Given the description of an element on the screen output the (x, y) to click on. 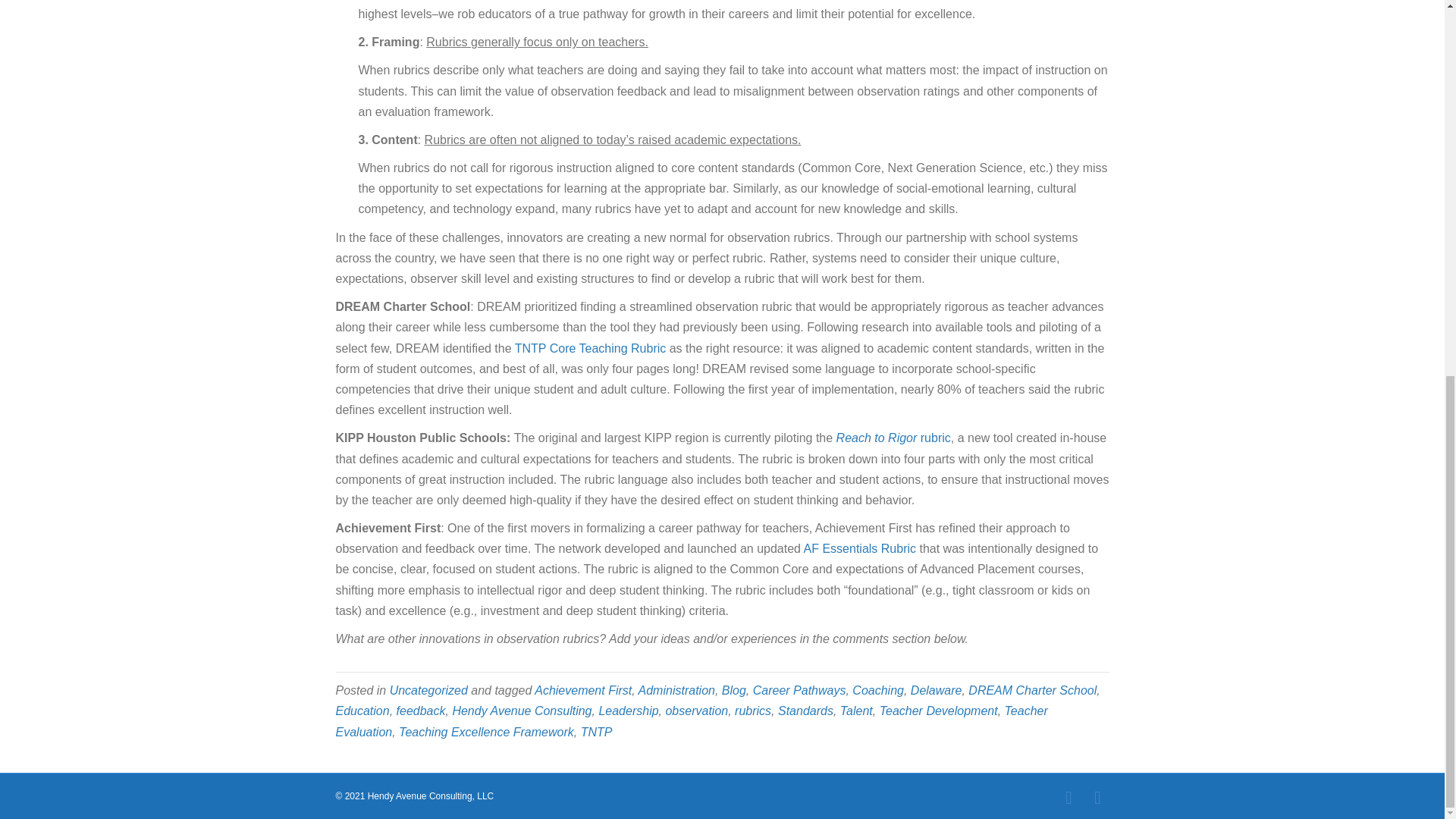
Blog (733, 689)
AF Essentials Rubric (860, 548)
Hendy Avenue Consulting (521, 710)
Coaching (877, 689)
feedback (420, 710)
Twitter (1068, 797)
Leadership (628, 710)
Reach to Rigor rubric (892, 437)
Linkedin (1097, 797)
TNTP (596, 731)
observation (696, 710)
Teacher Evaluation (690, 720)
Delaware (936, 689)
Teaching Excellence Framework (485, 731)
Teacher Development (938, 710)
